Given the description of an element on the screen output the (x, y) to click on. 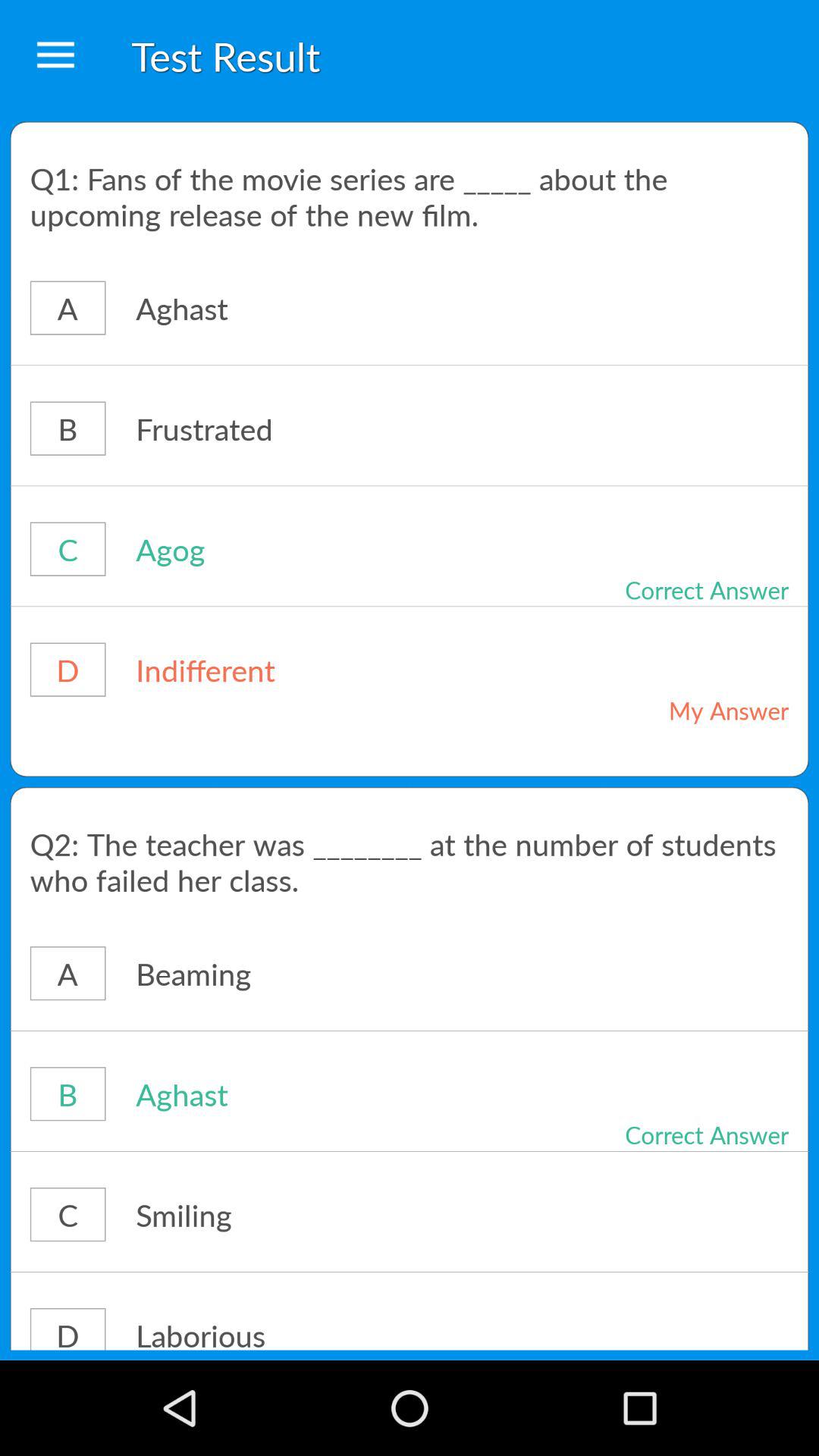
open the item above the q1 fans of (55, 55)
